Given the description of an element on the screen output the (x, y) to click on. 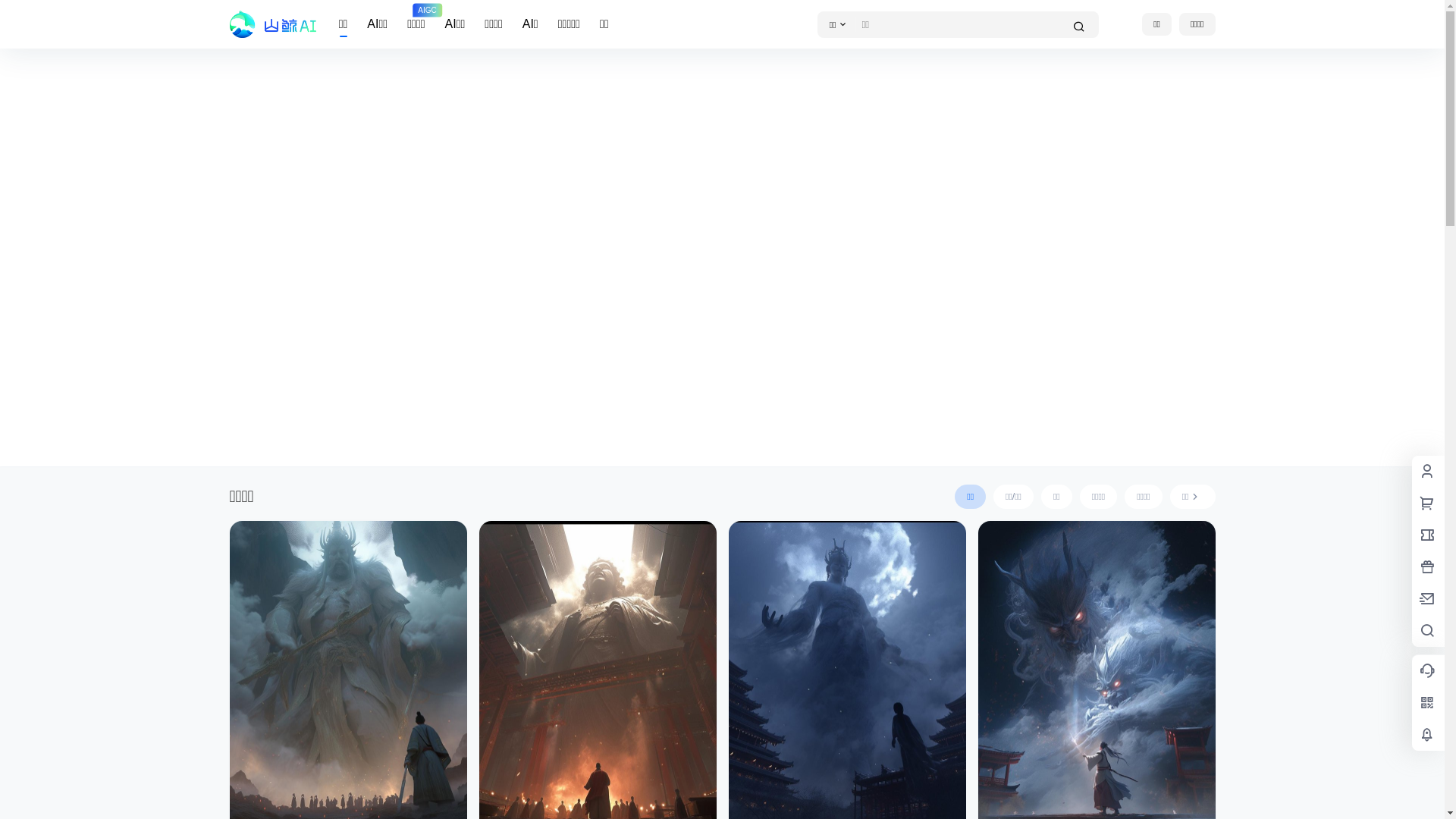
ok Element type: text (10, 10)
